Given the description of an element on the screen output the (x, y) to click on. 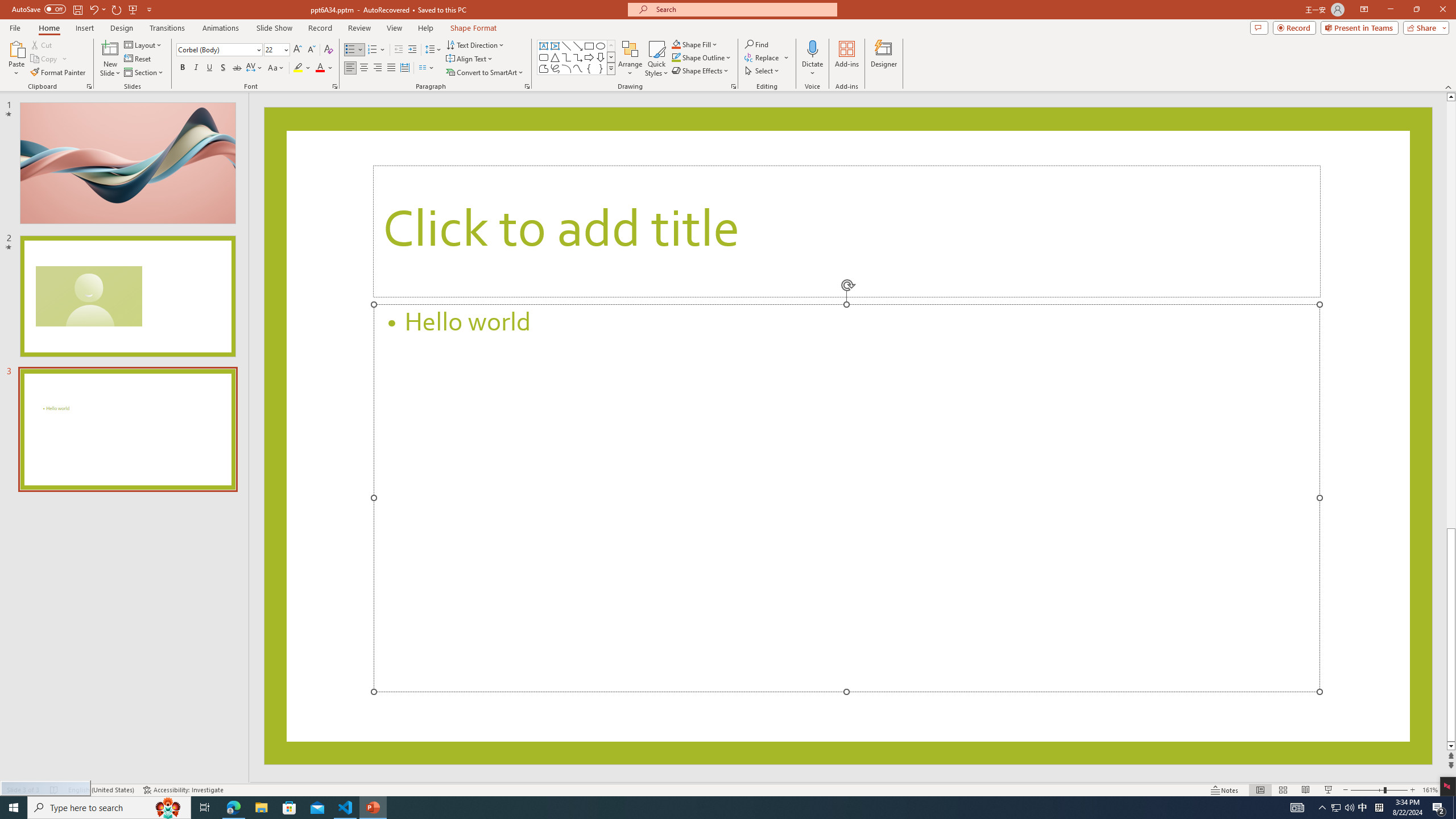
Zoom 161% (1430, 790)
